Given the description of an element on the screen output the (x, y) to click on. 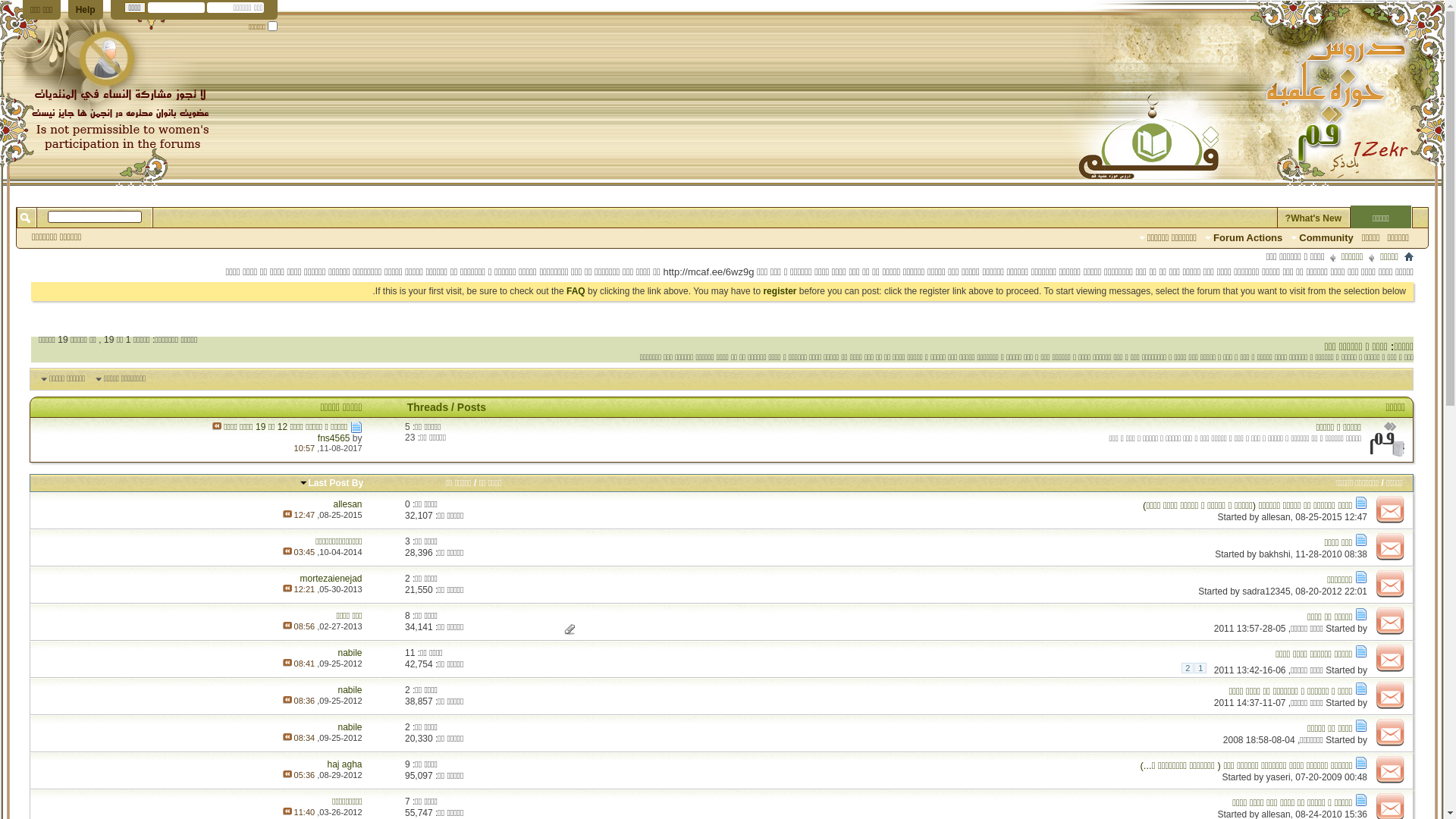
allesan Element type: text (1275, 516)
haj agha Element type: text (344, 764)
Forum Actions Element type: text (1243, 237)
3 Element type: text (407, 541)
2 Element type: text (407, 578)
mortezaienejad Element type: text (330, 578)
FAQ Element type: text (575, 290)
11 Element type: text (409, 652)
Community Element type: text (1322, 237)
What's New? Element type: text (1313, 217)
7 Element type: text (407, 801)
Home Element type: hover (1408, 255)
bakhshi Element type: text (1273, 554)
Help Element type: text (85, 9)
Post Element type: hover (1361, 725)
nabile Element type: text (350, 726)
8 Element type: text (407, 615)
2 Element type: text (407, 726)
nabile Element type: text (350, 652)
2 Element type: text (407, 689)
yaseri Element type: text (1278, 776)
register Element type: text (779, 290)
nabile Element type: text (350, 689)
9 Element type: text (407, 764)
2 Element type: text (1187, 667)
Last Post By Element type: text (330, 482)
fns4565 Element type: text (333, 438)
0 Element type: text (407, 503)
allesan Element type: text (347, 503)
sadra12345 Element type: text (1265, 591)
1 Element type: text (1200, 667)
